Given the description of an element on the screen output the (x, y) to click on. 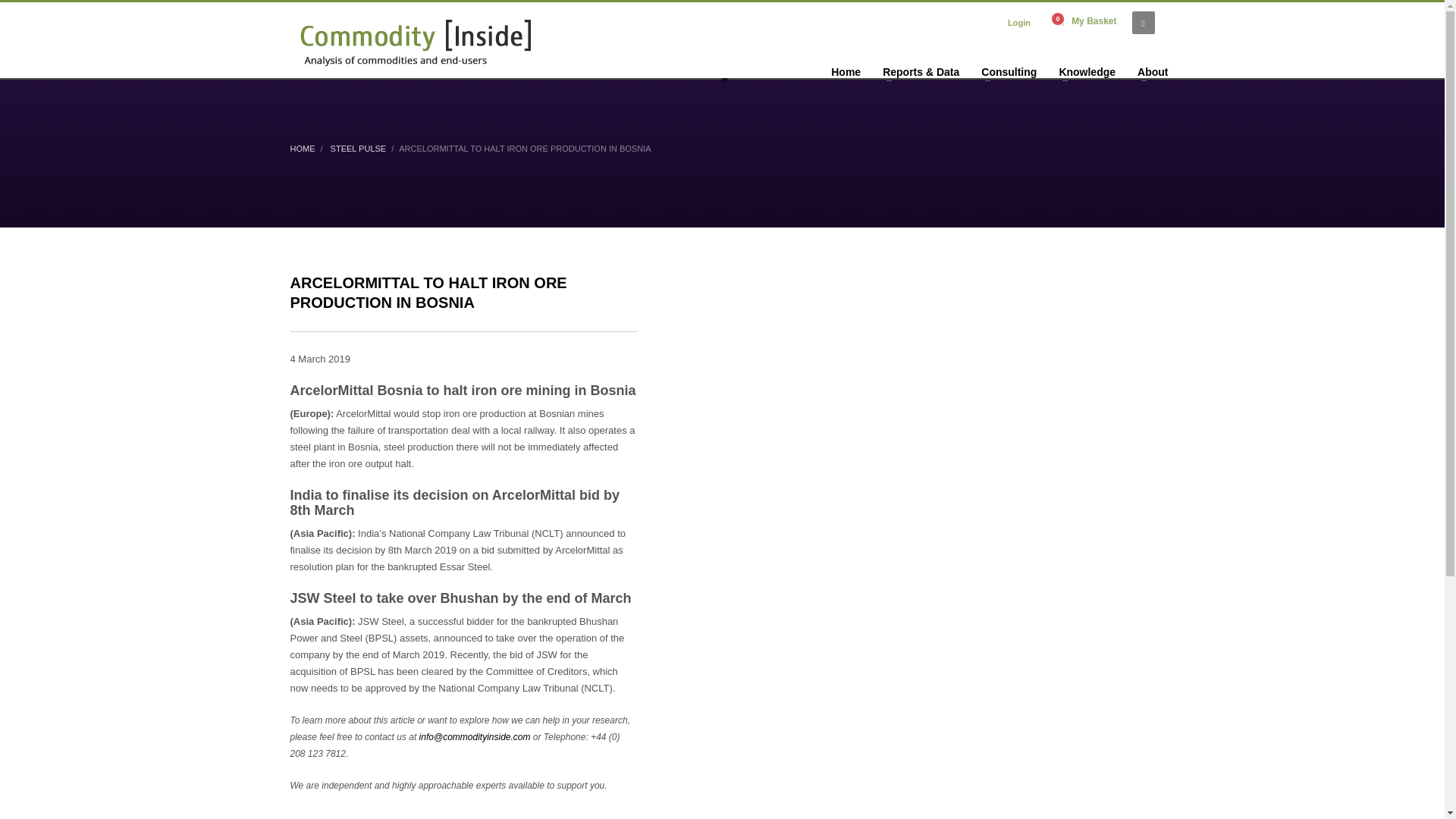
HOME (301, 148)
Consulting (1008, 71)
About (1152, 71)
Home (845, 71)
MY CART (1084, 22)
Login (1018, 22)
Knowledge (1086, 71)
View your shopping cart (1084, 22)
STEEL PULSE (358, 148)
